Given the description of an element on the screen output the (x, y) to click on. 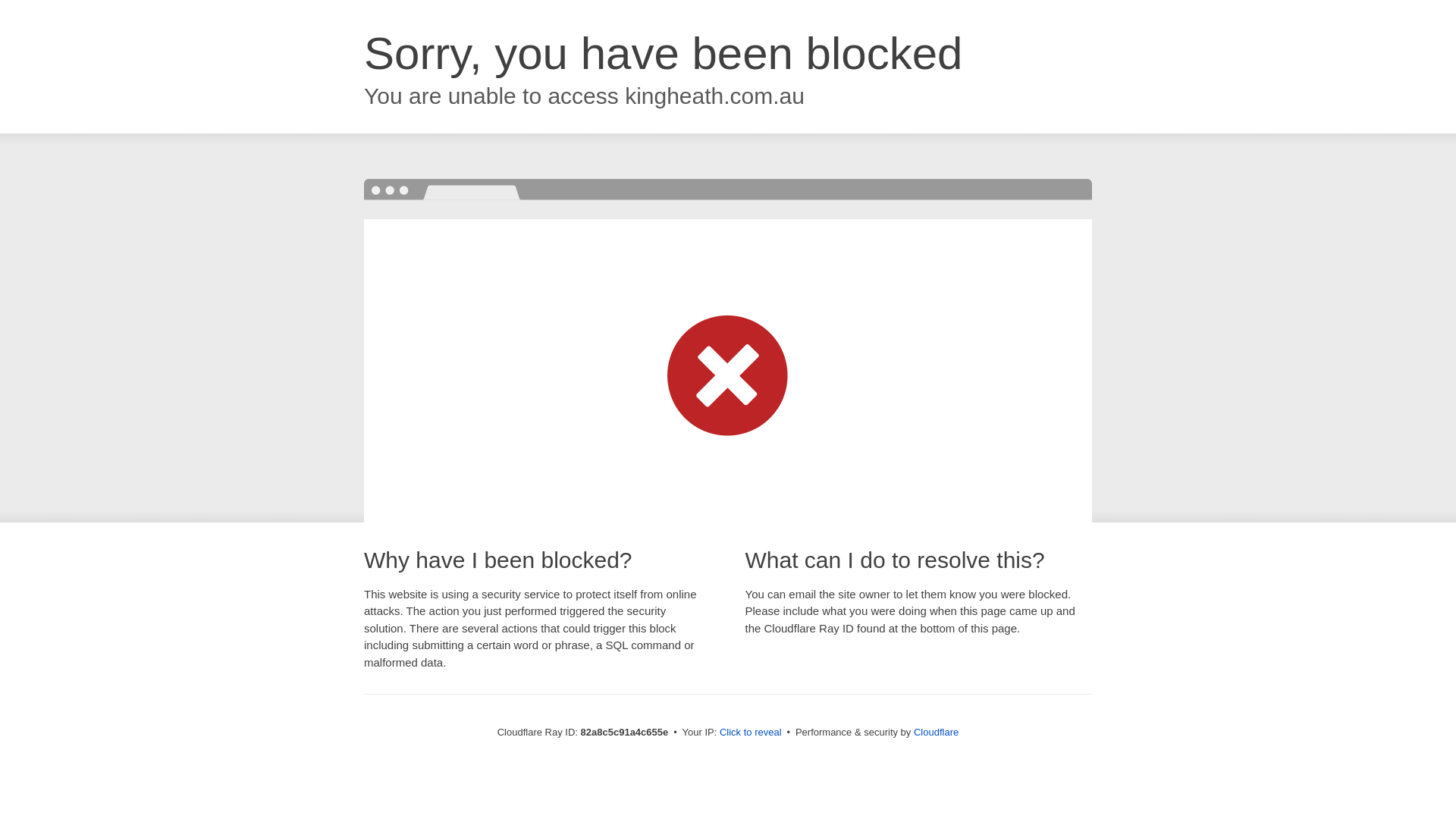
Cloudflare Element type: text (935, 731)
Click to reveal Element type: text (750, 732)
